Given the description of an element on the screen output the (x, y) to click on. 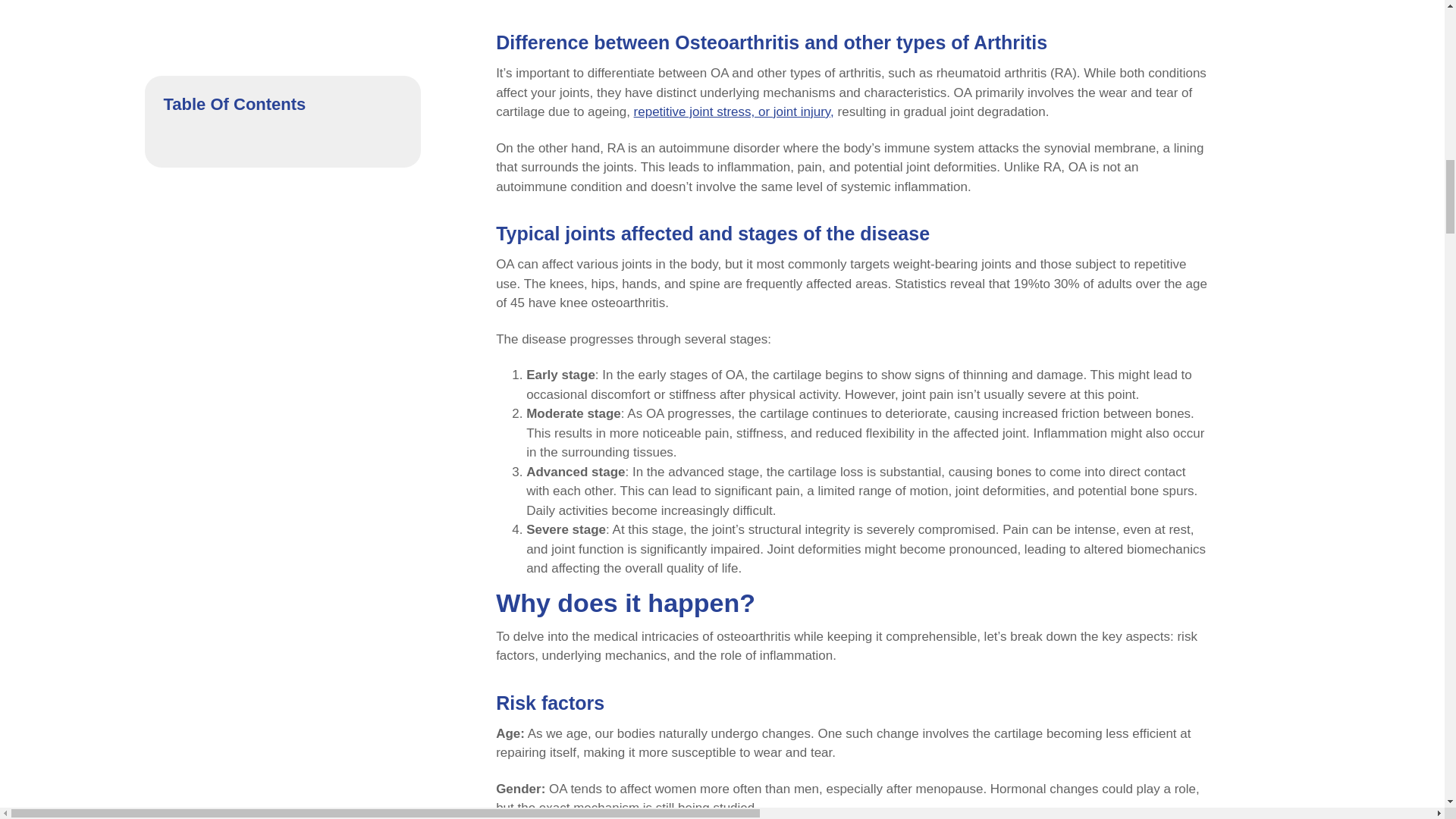
repetitive joint stress, or joint injury, (733, 111)
